Given the description of an element on the screen output the (x, y) to click on. 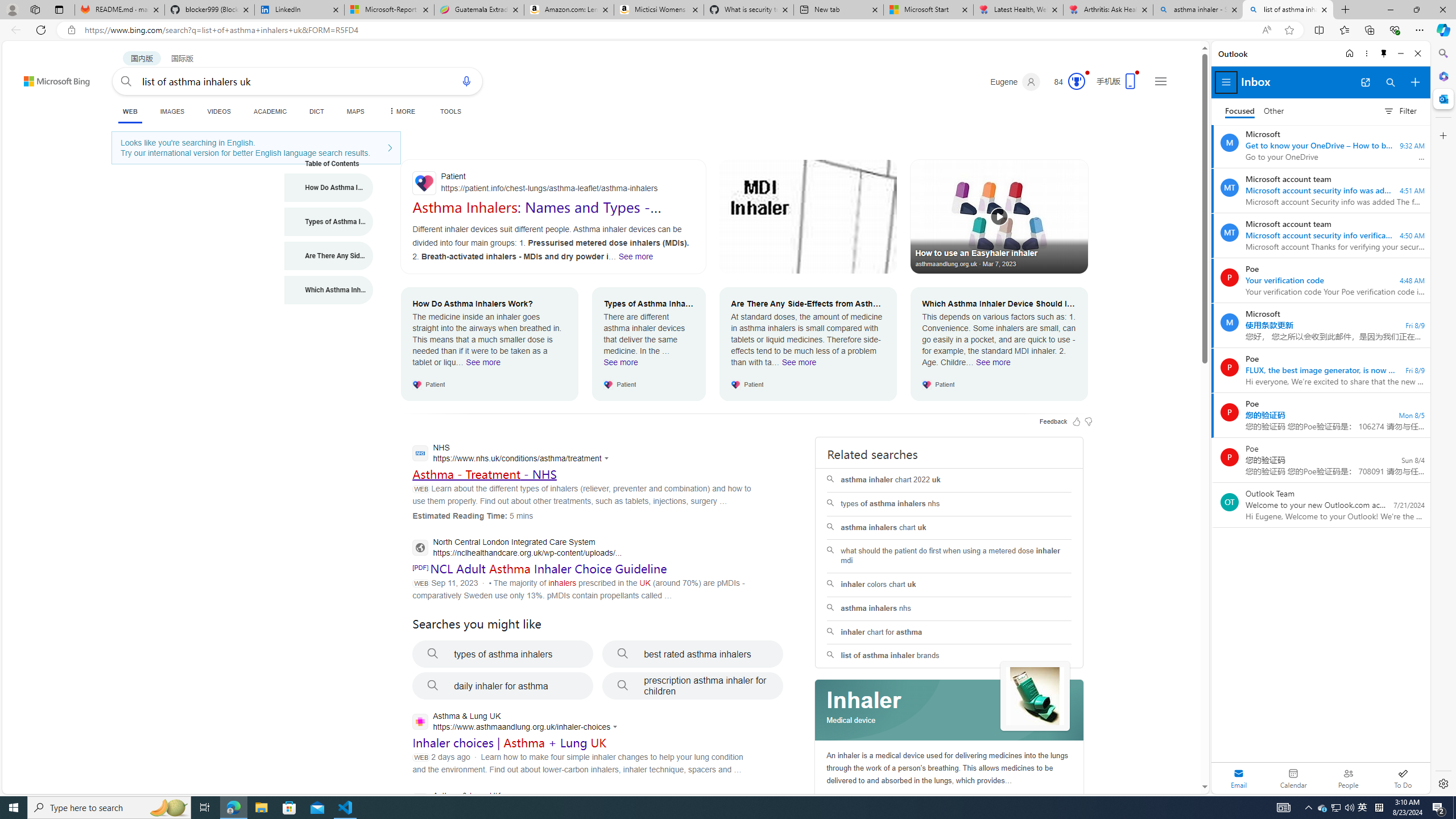
North Central London Integrated Care System (516, 549)
list of asthma inhaler brands (949, 656)
AutomationID: serp_medal_svg (1076, 81)
Inhaler choices | Asthma + Lung UK (509, 742)
AutomationID: rh_meter (1076, 80)
Patient (553, 182)
Asthma - Treatment - NHS (484, 473)
Eugene (1015, 81)
types of asthma inhalers (503, 653)
